Given the description of an element on the screen output the (x, y) to click on. 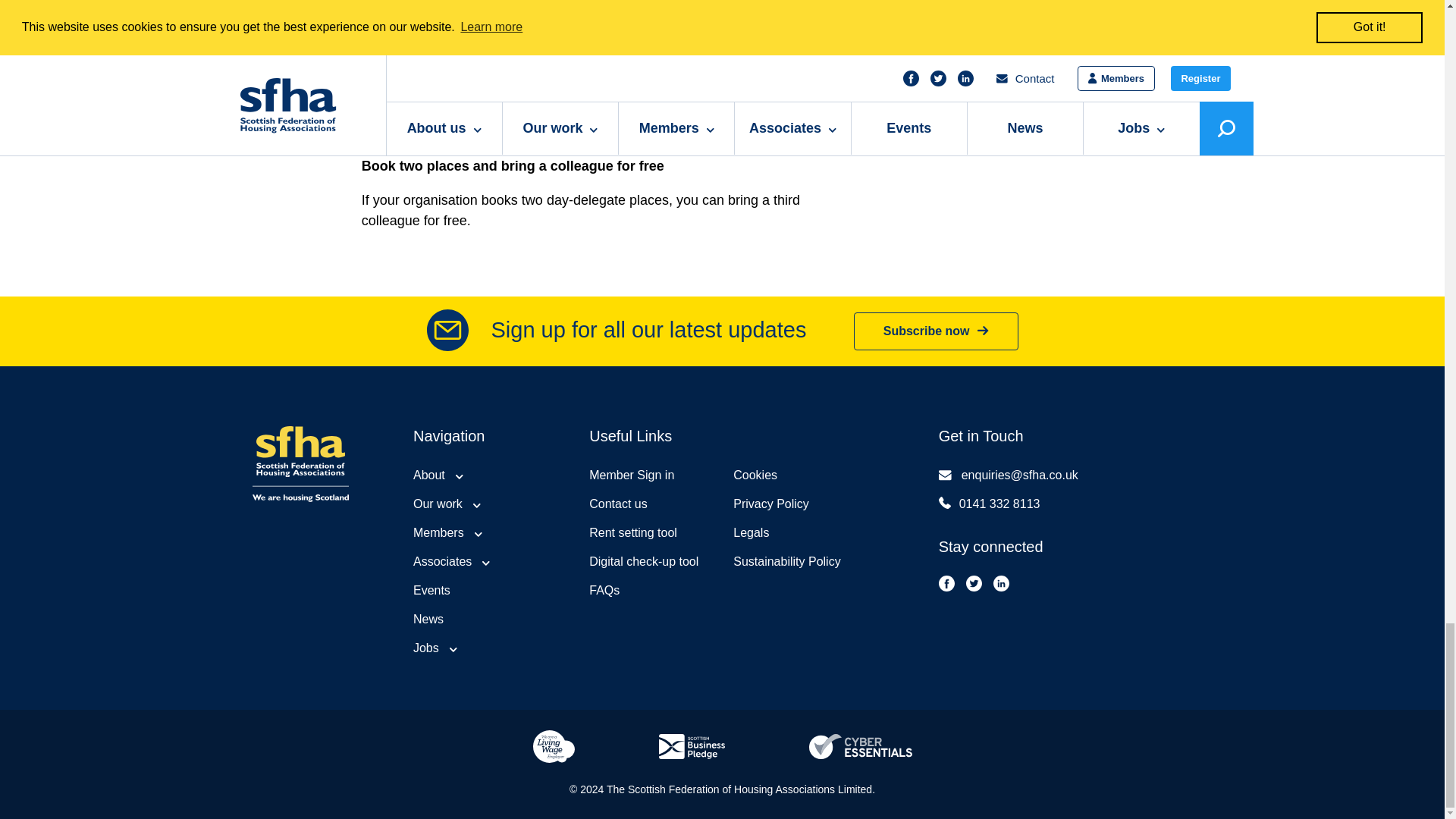
Twitter (974, 583)
LinkedIn (1001, 583)
Facebook (946, 583)
